Given the description of an element on the screen output the (x, y) to click on. 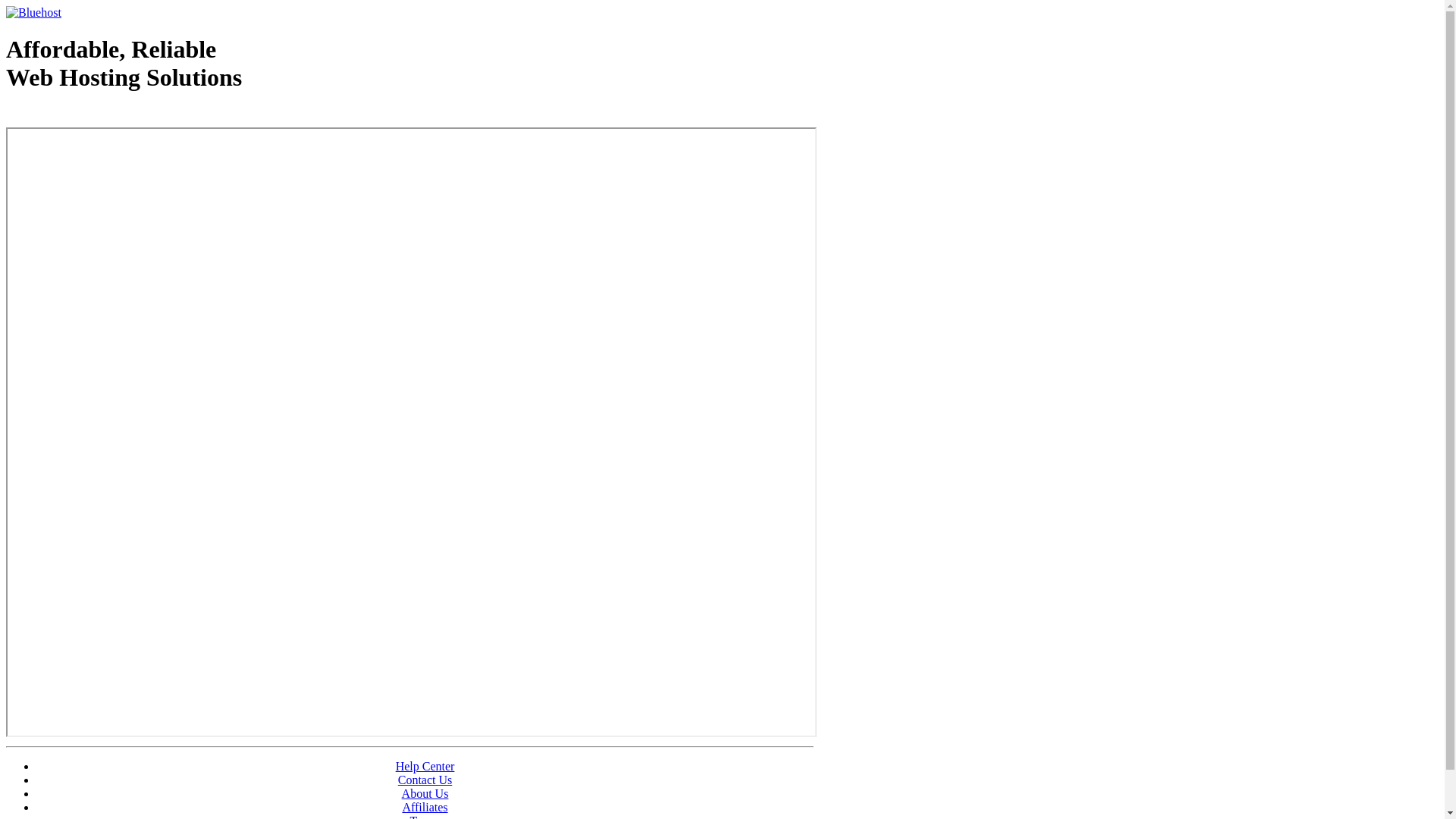
Contact Us Element type: text (425, 779)
Web Hosting - courtesy of www.bluehost.com Element type: text (94, 115)
Help Center Element type: text (425, 765)
Affiliates Element type: text (424, 806)
About Us Element type: text (424, 793)
